Given the description of an element on the screen output the (x, y) to click on. 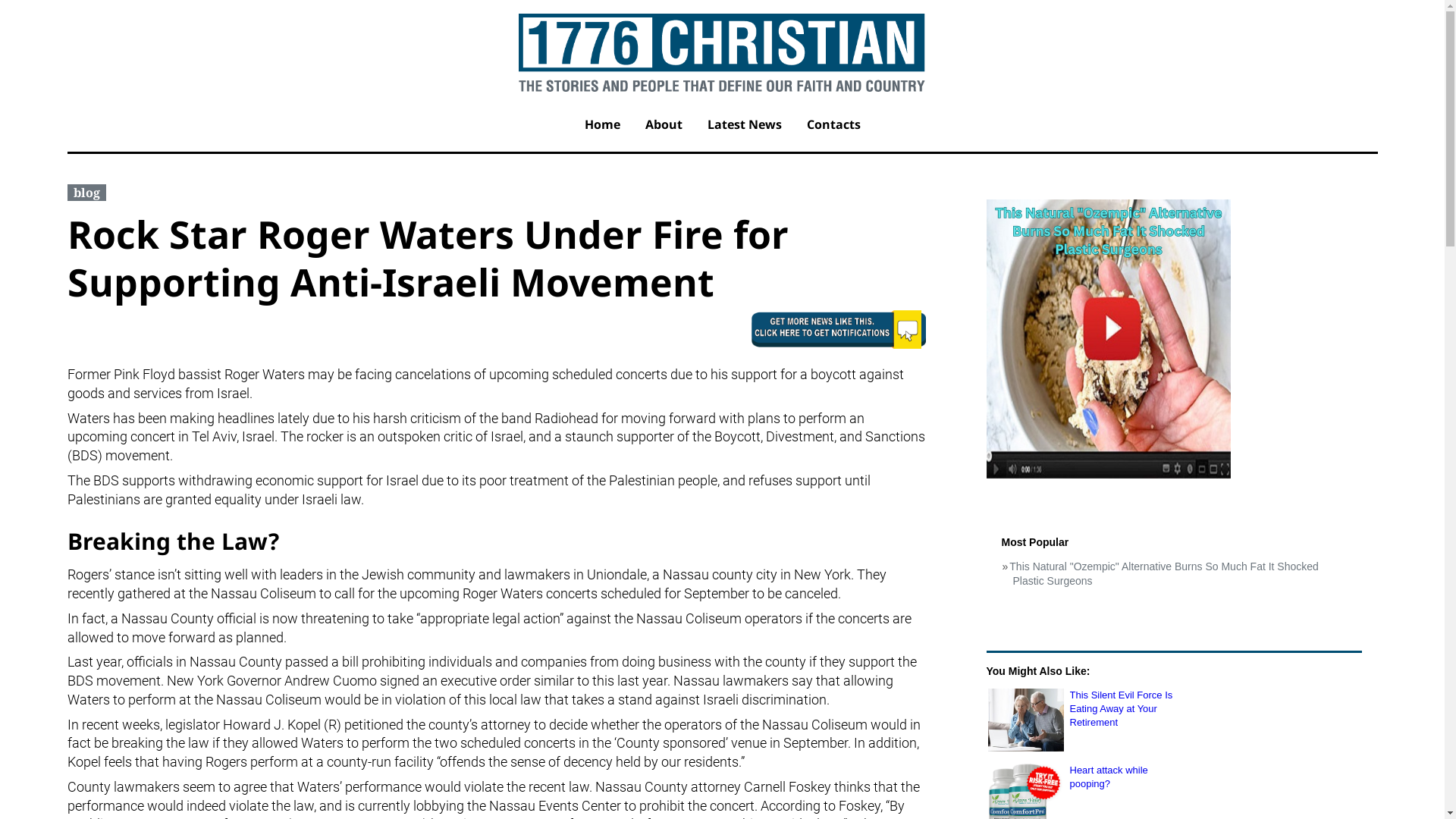
Heart attack while pooping? Element type: text (1123, 776)
This Silent Evil Force Is Eating Away at Your Retirement Element type: text (1123, 709)
This Silent Evil Force Is Eating Away at Your Retirement Element type: hover (1025, 719)
Contacts Element type: text (832, 126)
blog Element type: text (85, 192)
Home Element type: text (602, 126)
About Element type: text (663, 126)
Latest News Element type: text (744, 126)
